Given the description of an element on the screen output the (x, y) to click on. 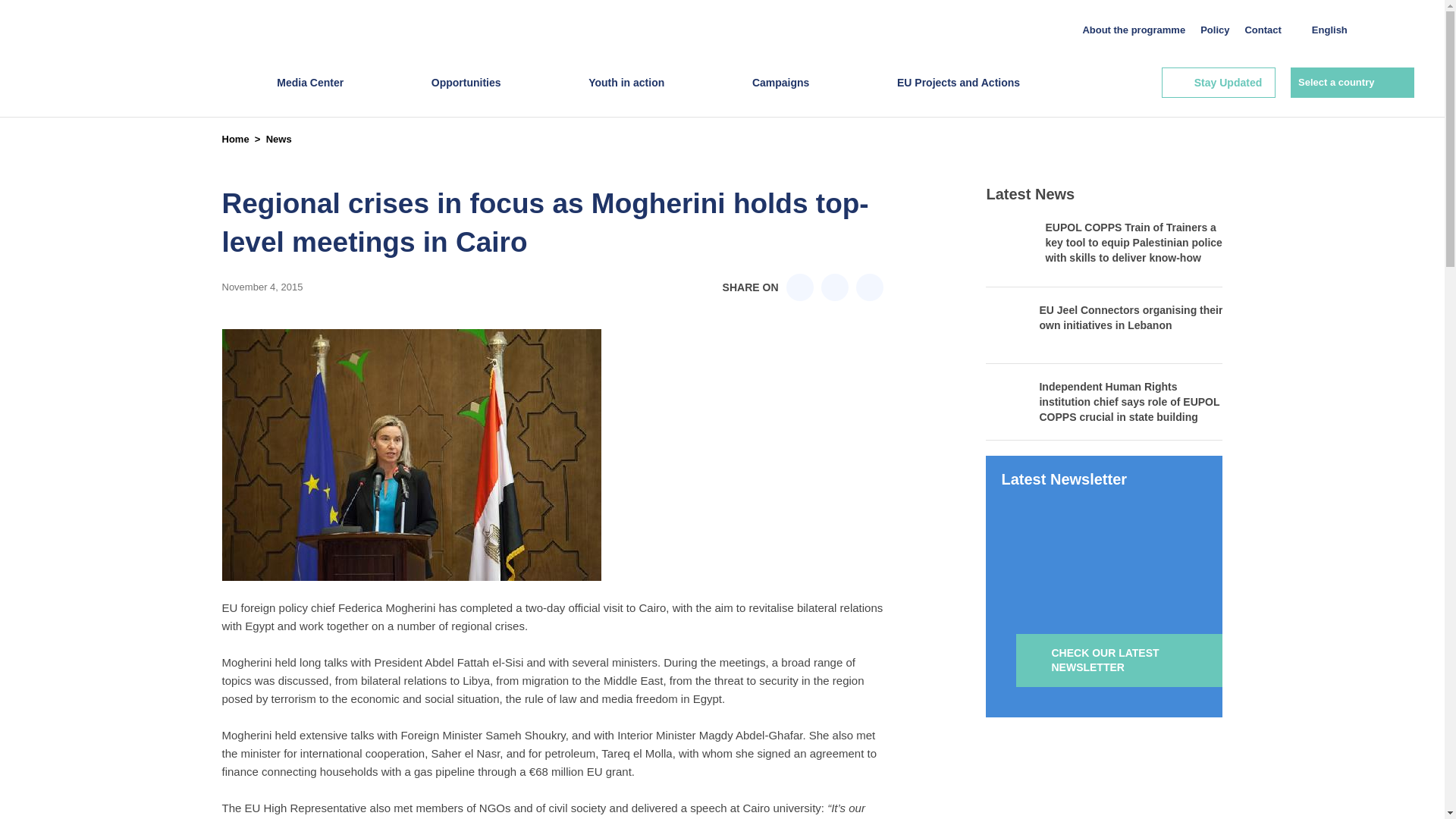
About the programme (1133, 30)
Policy (1213, 30)
English (1332, 29)
Media Center (309, 97)
Contact (1262, 30)
